Given the description of an element on the screen output the (x, y) to click on. 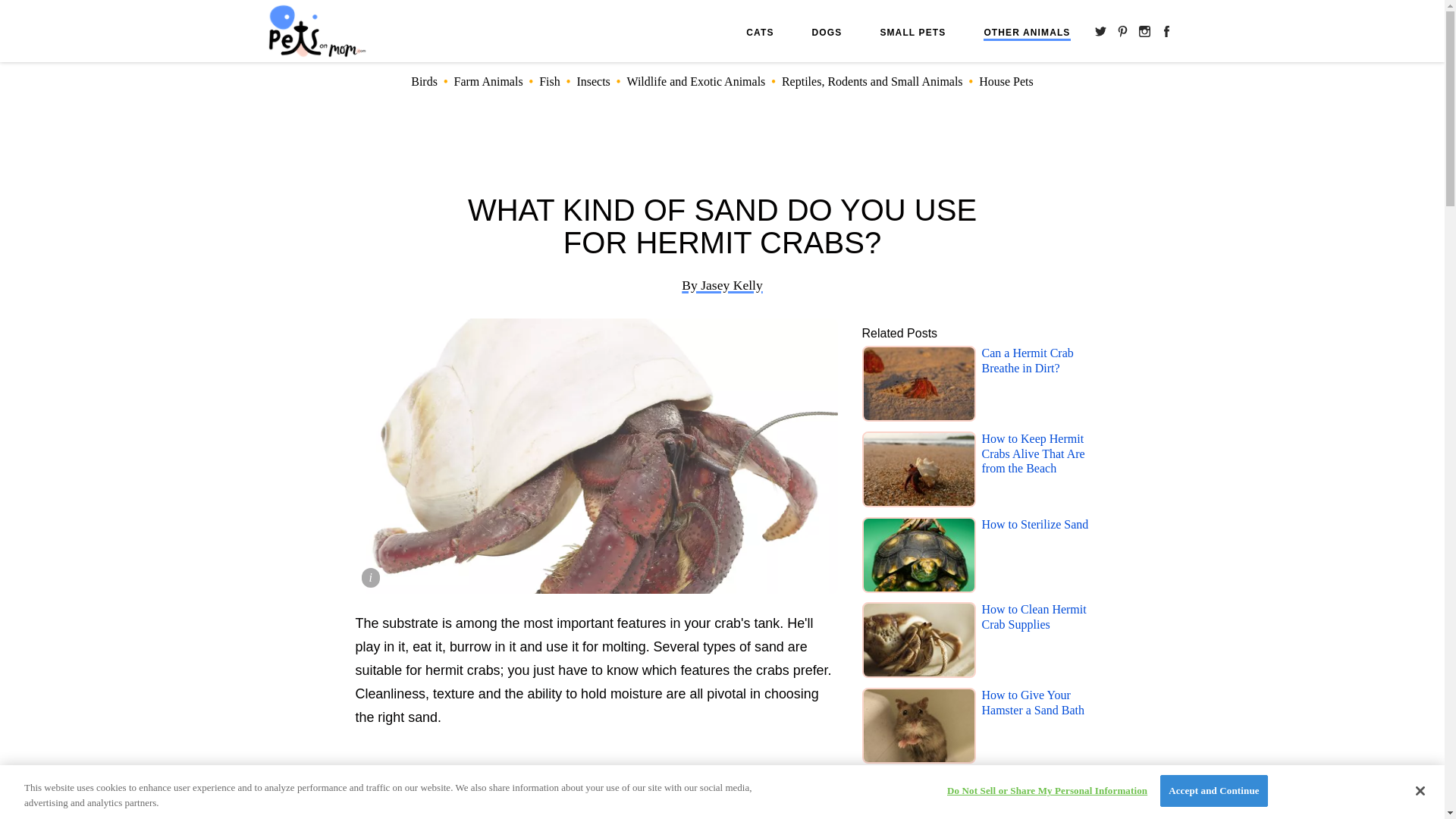
Birds (424, 81)
SMALL PETS (911, 32)
CATS (759, 32)
Fish (549, 81)
Reptiles, Rodents and Small Animals (871, 81)
Wildlife and Exotic Animals (695, 81)
DOGS (827, 32)
Farm Animals (487, 81)
House Pets (1005, 81)
Insects (593, 81)
Advertisement (596, 783)
OTHER ANIMALS (1027, 33)
